Given the description of an element on the screen output the (x, y) to click on. 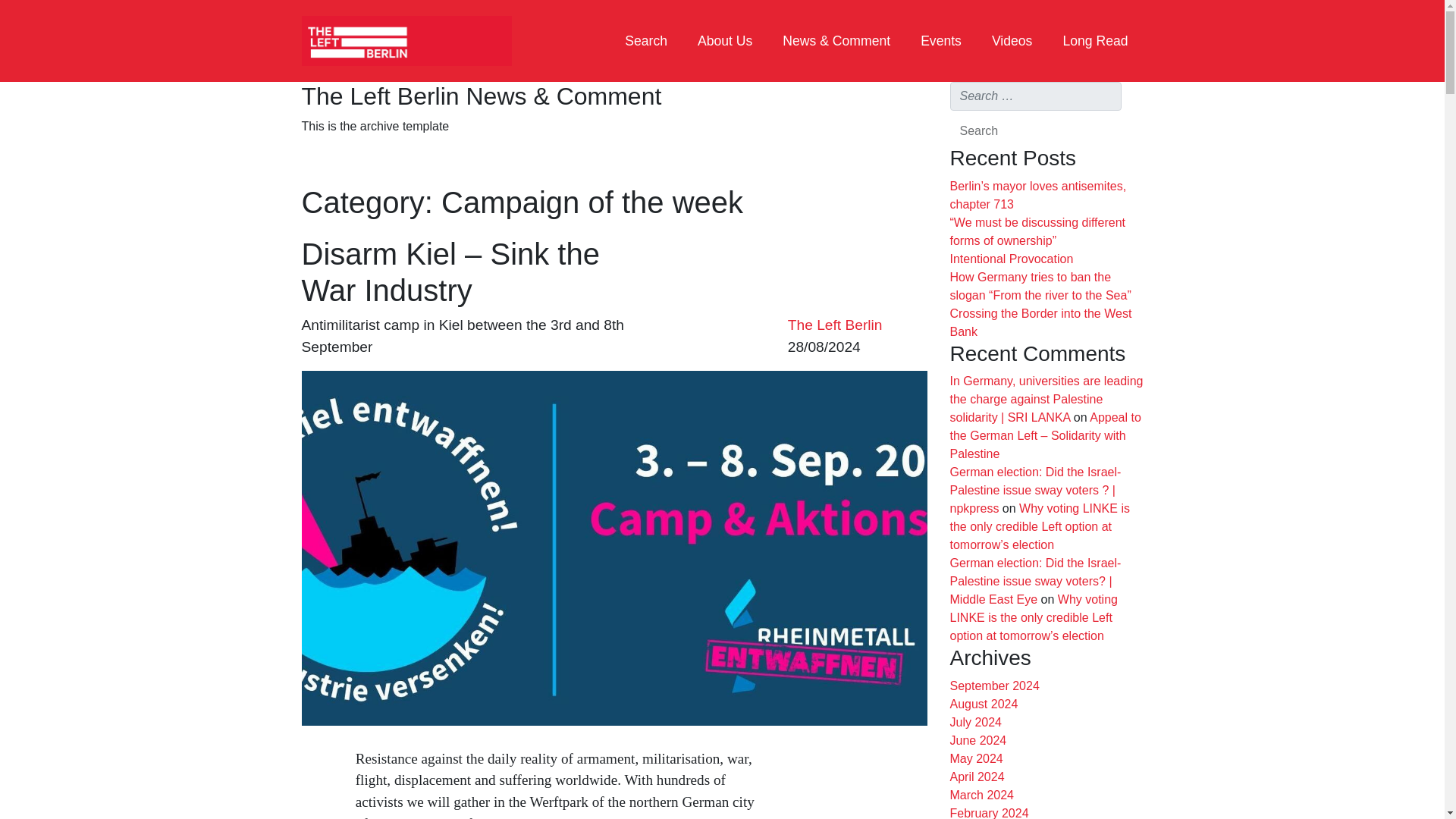
The Left Berlin (834, 324)
Search (978, 131)
Search (646, 40)
Events (940, 40)
Videos (1011, 40)
Events (940, 40)
Videos (1011, 40)
Long Read (1094, 40)
Long Read (1094, 40)
About Us (724, 40)
